Given the description of an element on the screen output the (x, y) to click on. 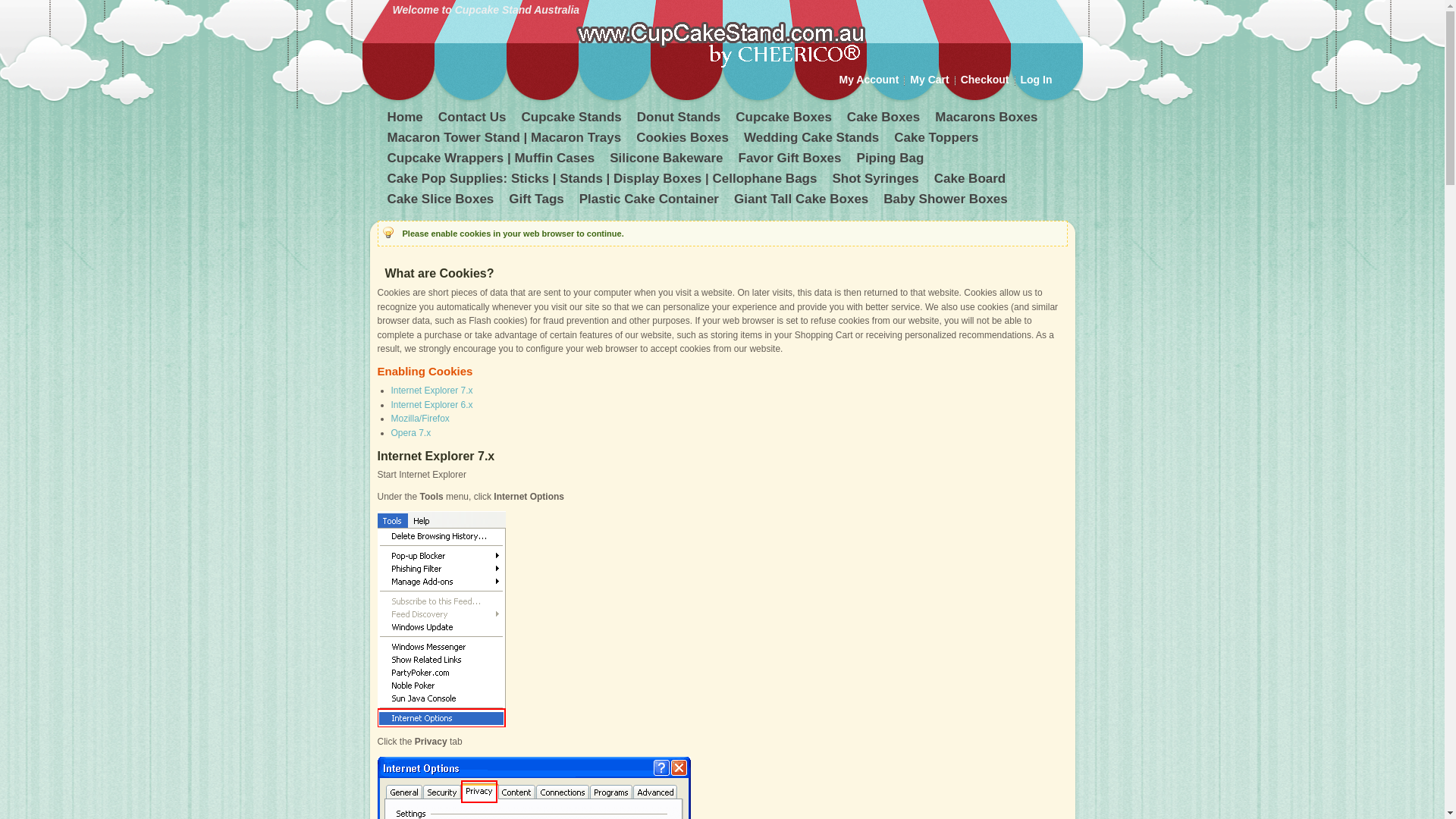
Contact Us Element type: text (473, 119)
Cupcake Stands Element type: text (572, 119)
Gift Tags Element type: text (537, 201)
Favor Gift Boxes Element type: text (791, 160)
Macaron Tower Stand | Macaron Trays Element type: text (505, 139)
Internet Explorer 6.x Element type: text (432, 404)
Plastic Cake Container Element type: text (650, 201)
Silicone Bakeware Element type: text (667, 160)
Mozilla/Firefox Element type: text (420, 418)
Checkout Element type: text (984, 79)
My Cart Element type: text (929, 79)
Opera 7.x Element type: text (411, 432)
Piping Bag Element type: text (891, 160)
Wedding Cake Stands Element type: text (812, 139)
Cupcake Wrappers | Muffin Cases Element type: text (491, 160)
Donut Stands Element type: text (680, 119)
Log In Element type: text (1036, 79)
Cupcake Boxes Element type: text (784, 119)
Cookies Boxes Element type: text (683, 139)
Cake Board Element type: text (971, 180)
Shot Syringes Element type: text (876, 180)
Cake Boxes Element type: text (884, 119)
Home Element type: text (405, 119)
Internet Explorer 7.x Element type: text (432, 390)
My Account Element type: text (869, 79)
Cake Slice Boxes Element type: text (441, 201)
Baby Shower Boxes Element type: text (946, 201)
Giant Tall Cake Boxes Element type: text (802, 201)
Cupcake Stand Element type: hover (718, 41)
Macarons Boxes Element type: text (987, 119)
Cake Toppers Element type: text (937, 139)
